Given the description of an element on the screen output the (x, y) to click on. 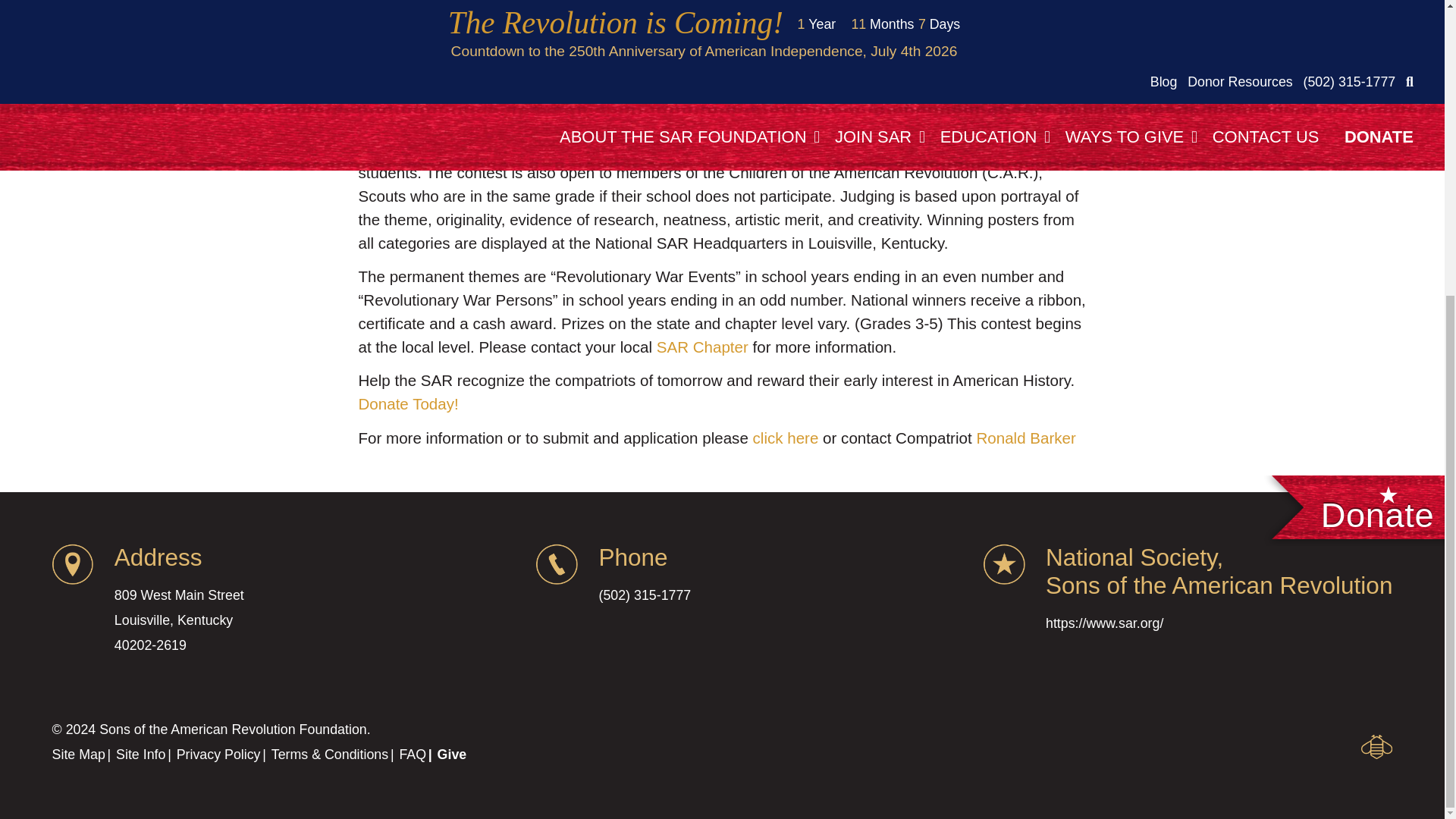
Louisville Web Design (1376, 746)
